Given the description of an element on the screen output the (x, y) to click on. 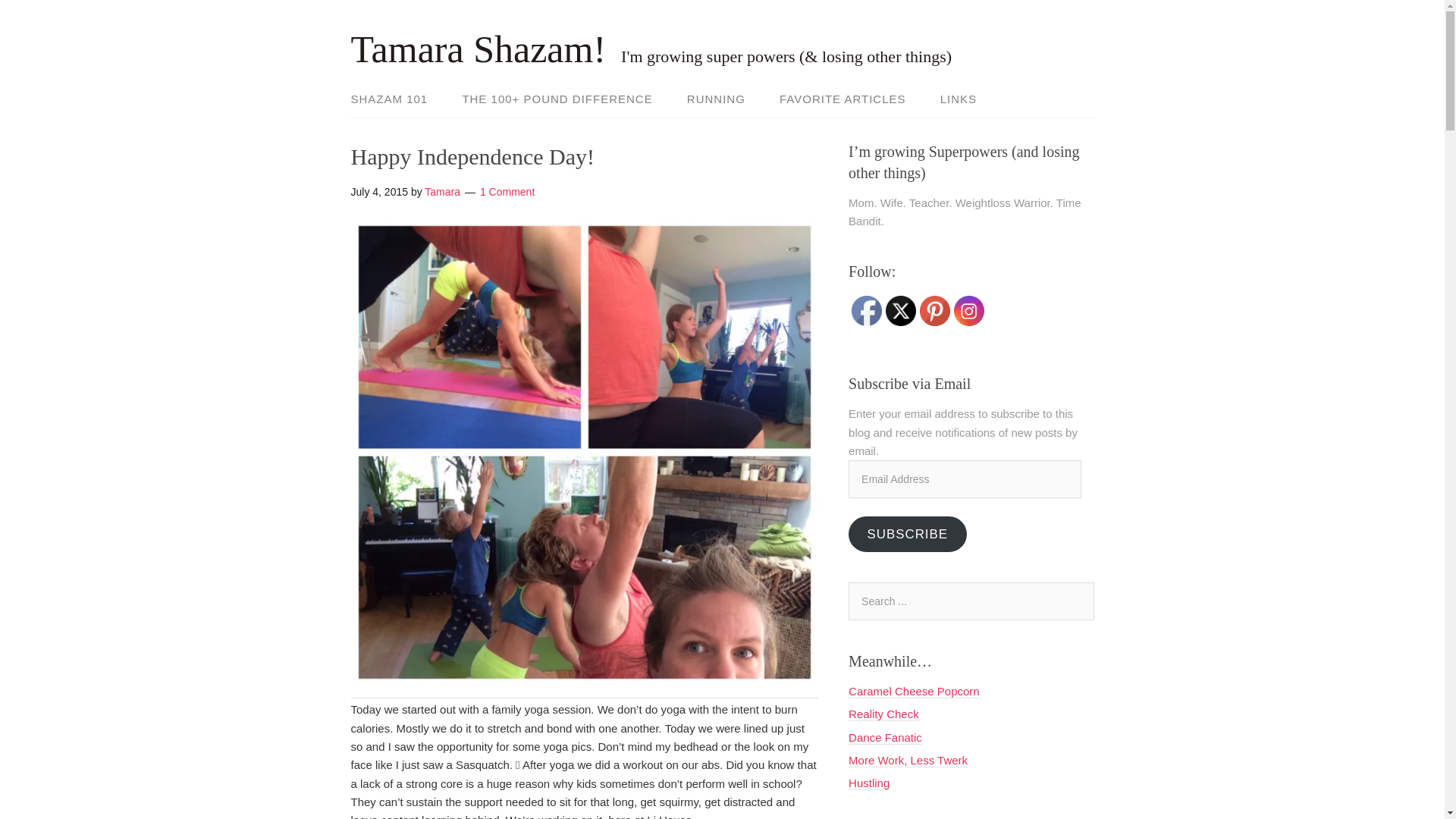
Reality Check (883, 714)
LINKS (950, 99)
Tamara (442, 191)
Tamara Shazam! (477, 48)
1 Comment (507, 191)
SHAZAM 101 (396, 99)
SUBSCRIBE (907, 534)
Twitter (900, 310)
